Given the description of an element on the screen output the (x, y) to click on. 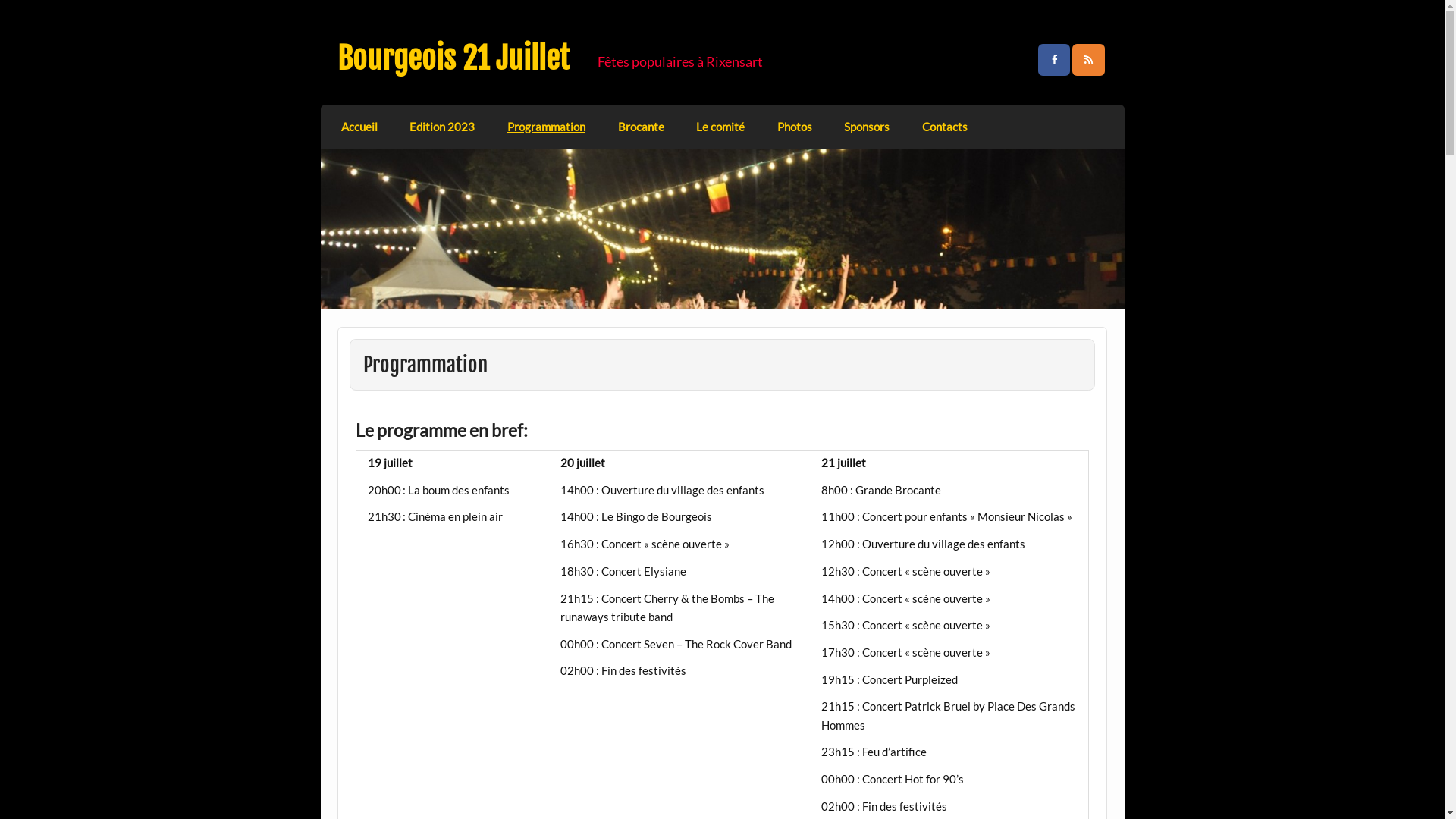
Contacts Element type: text (945, 126)
Edition 2023 Element type: text (442, 126)
Sponsors Element type: text (867, 126)
Photos Element type: text (794, 126)
Accueil Element type: text (359, 126)
Brocante Element type: text (640, 126)
Programmation Element type: text (546, 126)
